Given the description of an element on the screen output the (x, y) to click on. 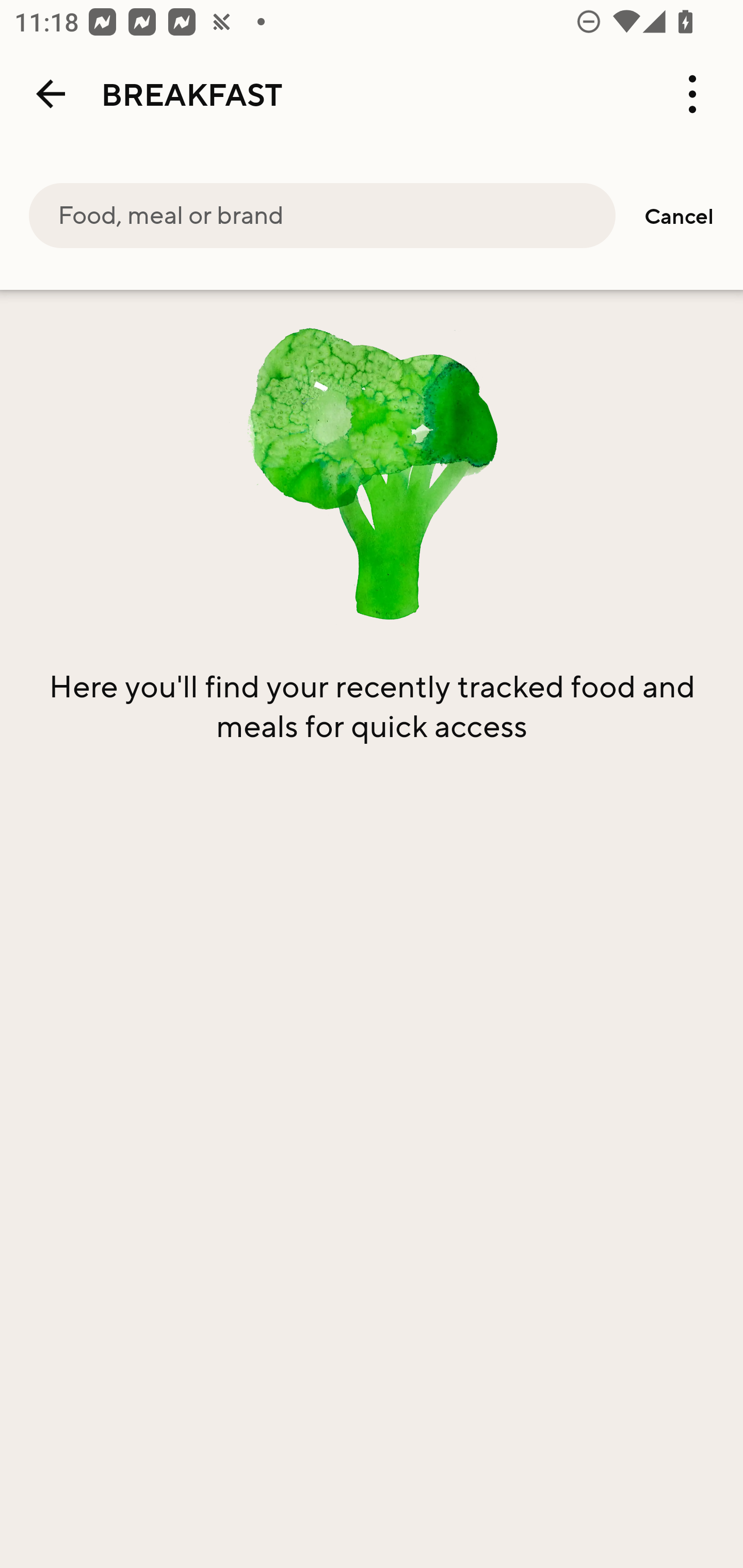
Back (50, 93)
Cancel (679, 215)
